Given the description of an element on the screen output the (x, y) to click on. 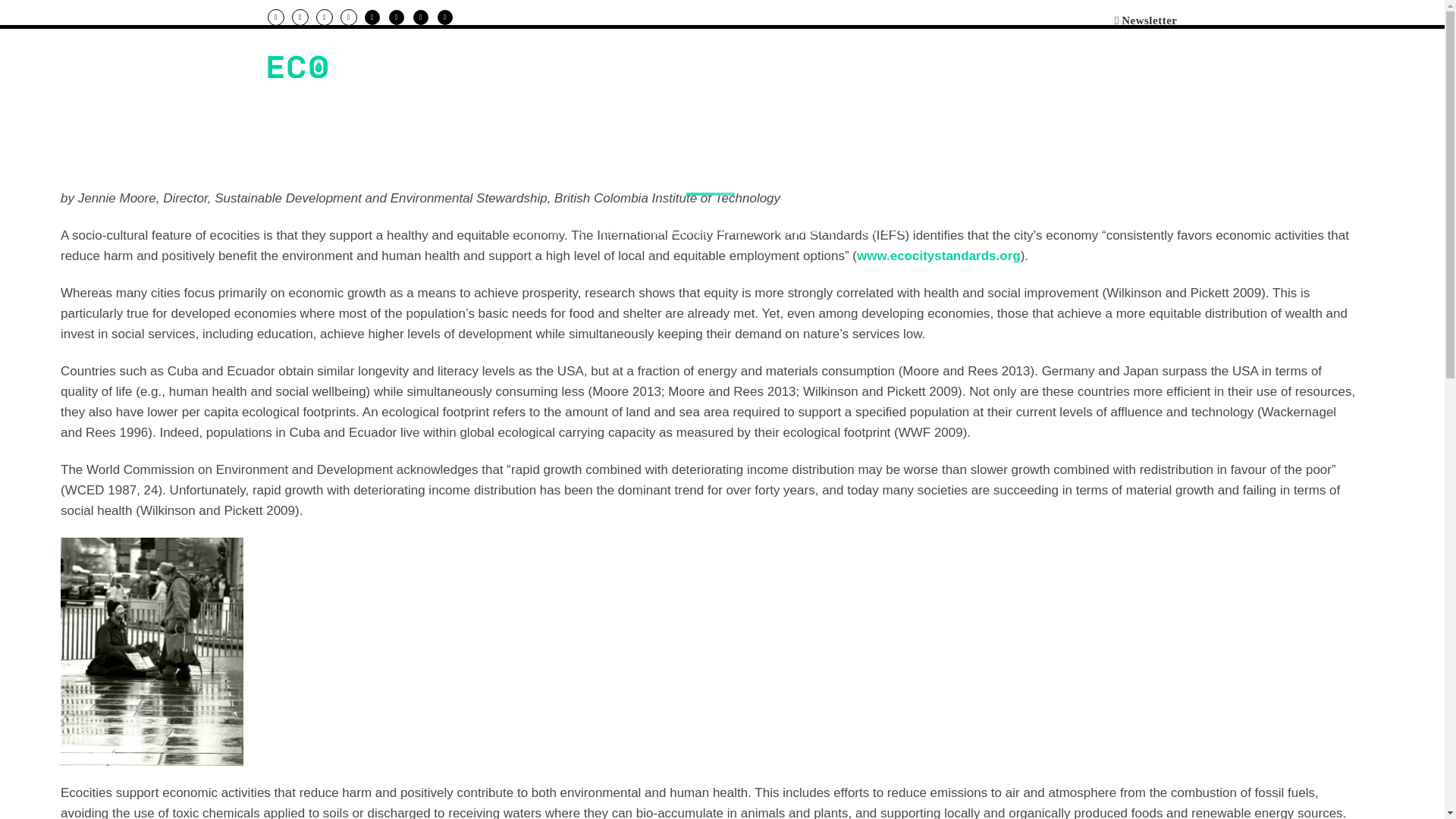
Donate Now! (1051, 66)
About (949, 66)
Programs (780, 66)
Newsletter (1146, 20)
Assets (872, 66)
What is an Ecocity? (636, 66)
Sign up for our monthly e-newsletter (1146, 20)
Like this (883, 231)
